Given the description of an element on the screen output the (x, y) to click on. 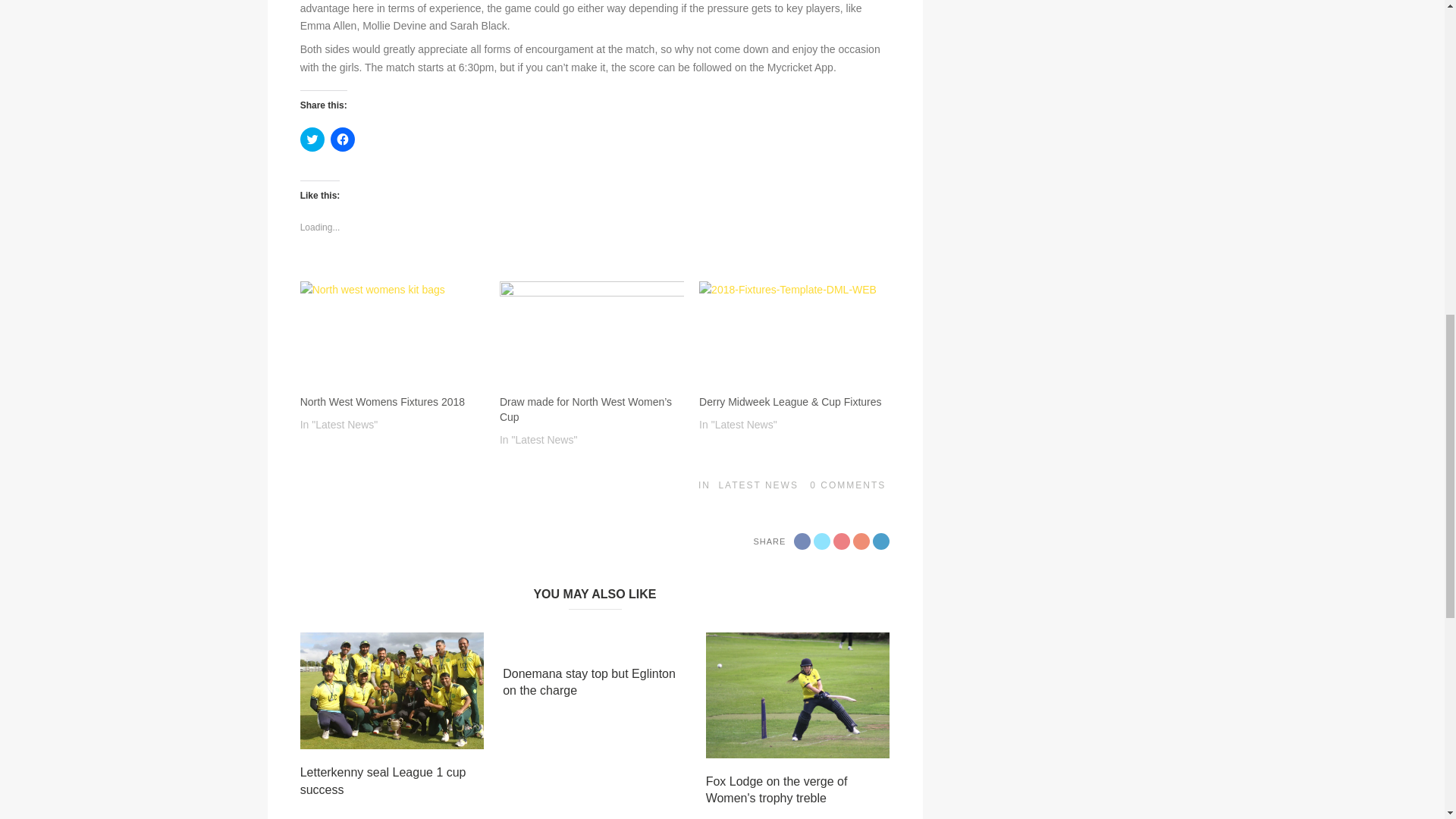
Click to share on Twitter (311, 139)
Facebook (801, 332)
Twitter (821, 332)
LinkedIn (880, 332)
Pinterest (861, 332)
Click to share on Facebook (342, 139)
